Given the description of an element on the screen output the (x, y) to click on. 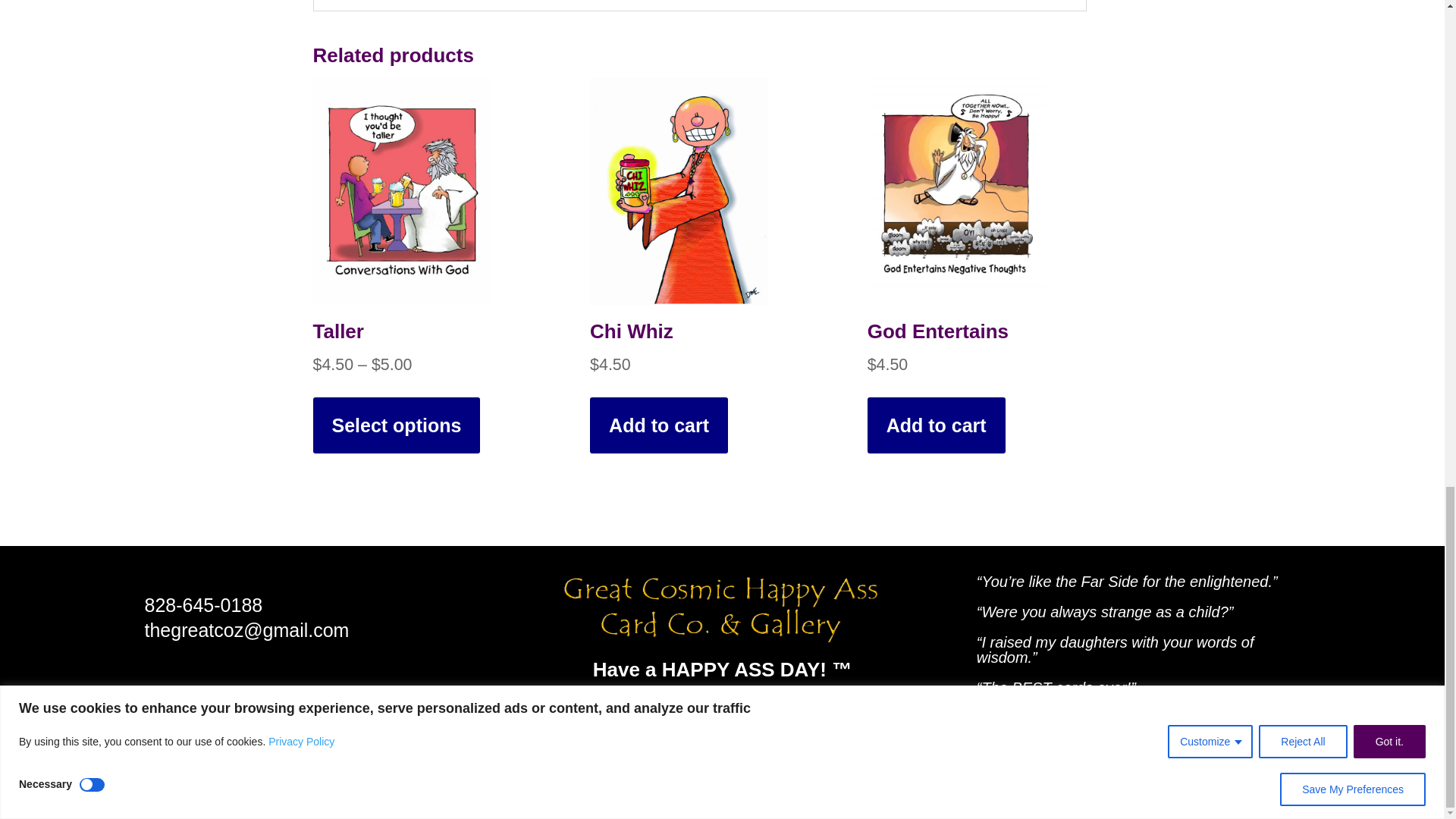
Follow on Instagram (698, 721)
Follow on Facebook (648, 721)
Follow on Pinterest (794, 721)
Follow on Youtube (746, 721)
